Given the description of an element on the screen output the (x, y) to click on. 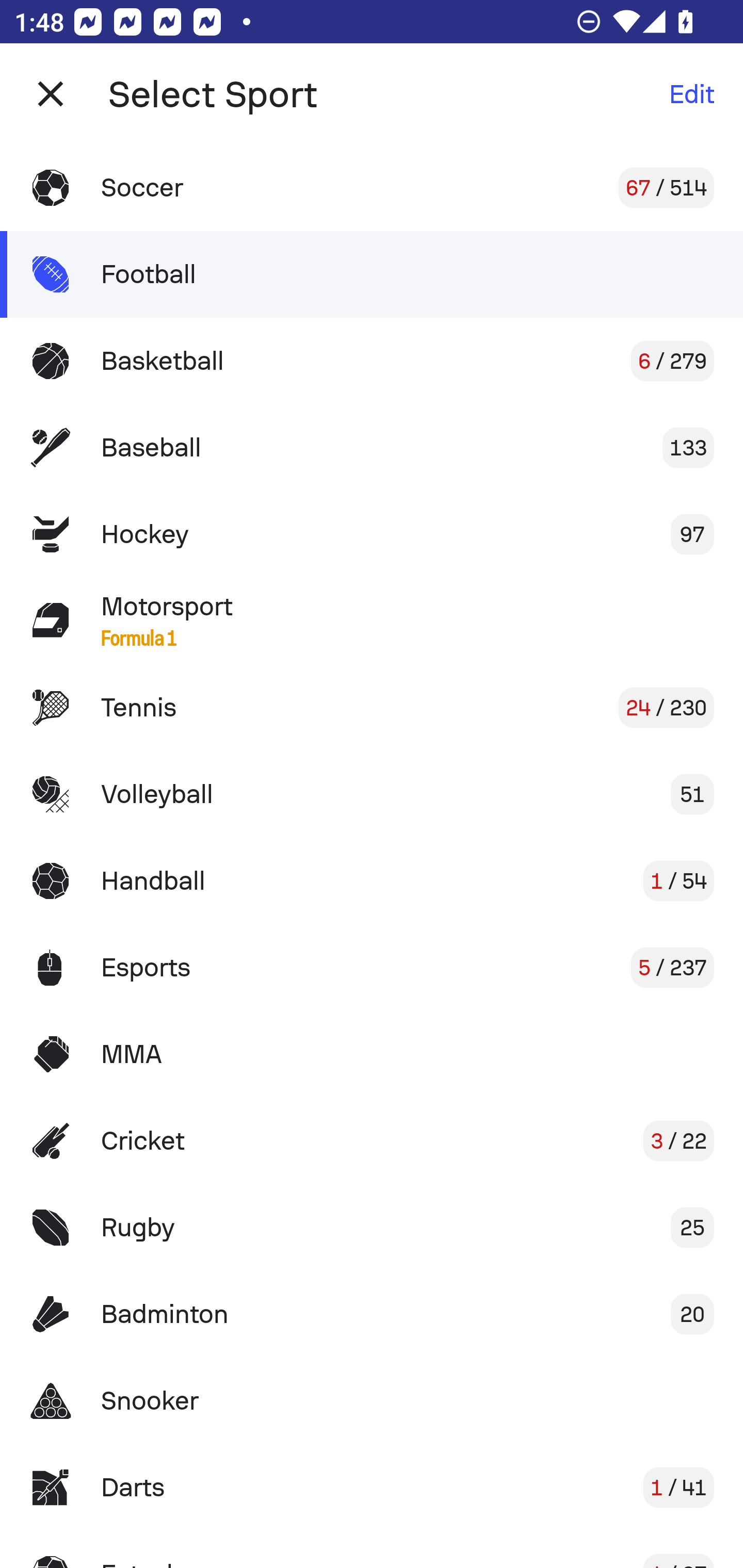
Edit (691, 93)
Soccer 67 / 514 (371, 187)
Football (371, 274)
Basketball 6 / 279 (371, 361)
Baseball 133 (371, 447)
Hockey 97 (371, 533)
Motorsport Formula 1 (371, 620)
Tennis 24 / 230 (371, 707)
Volleyball 51 (371, 794)
Handball 1 / 54 (371, 880)
Esports 5 / 237 (371, 967)
MMA (371, 1054)
Cricket 3 / 22 (371, 1140)
Rugby 25 (371, 1227)
Badminton 20 (371, 1314)
Snooker (371, 1400)
Darts 1 / 41 (371, 1487)
